Given the description of an element on the screen output the (x, y) to click on. 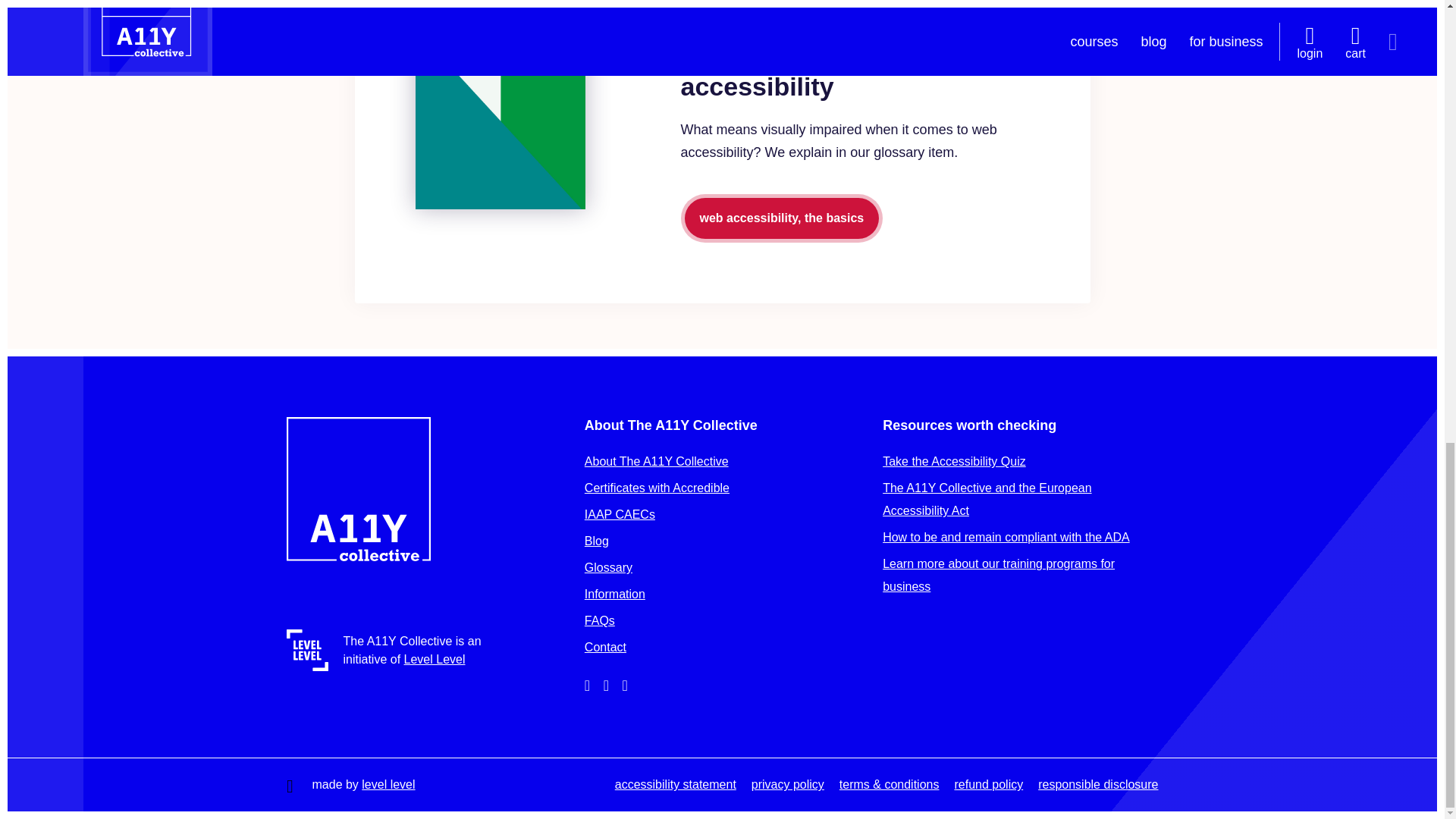
How to be and remain compliant with the ADA (1005, 536)
Blog (596, 540)
accessibility statement (675, 784)
The A11Y Collective is an initiative of Level Level (398, 649)
web accessibility, the basics (782, 218)
IAAP CAECs (620, 513)
About The A11Y Collective (657, 461)
The A11Y Collective and the European Accessibility Act (986, 498)
Contact (605, 646)
Learn more about our training programs for business (998, 574)
